Given the description of an element on the screen output the (x, y) to click on. 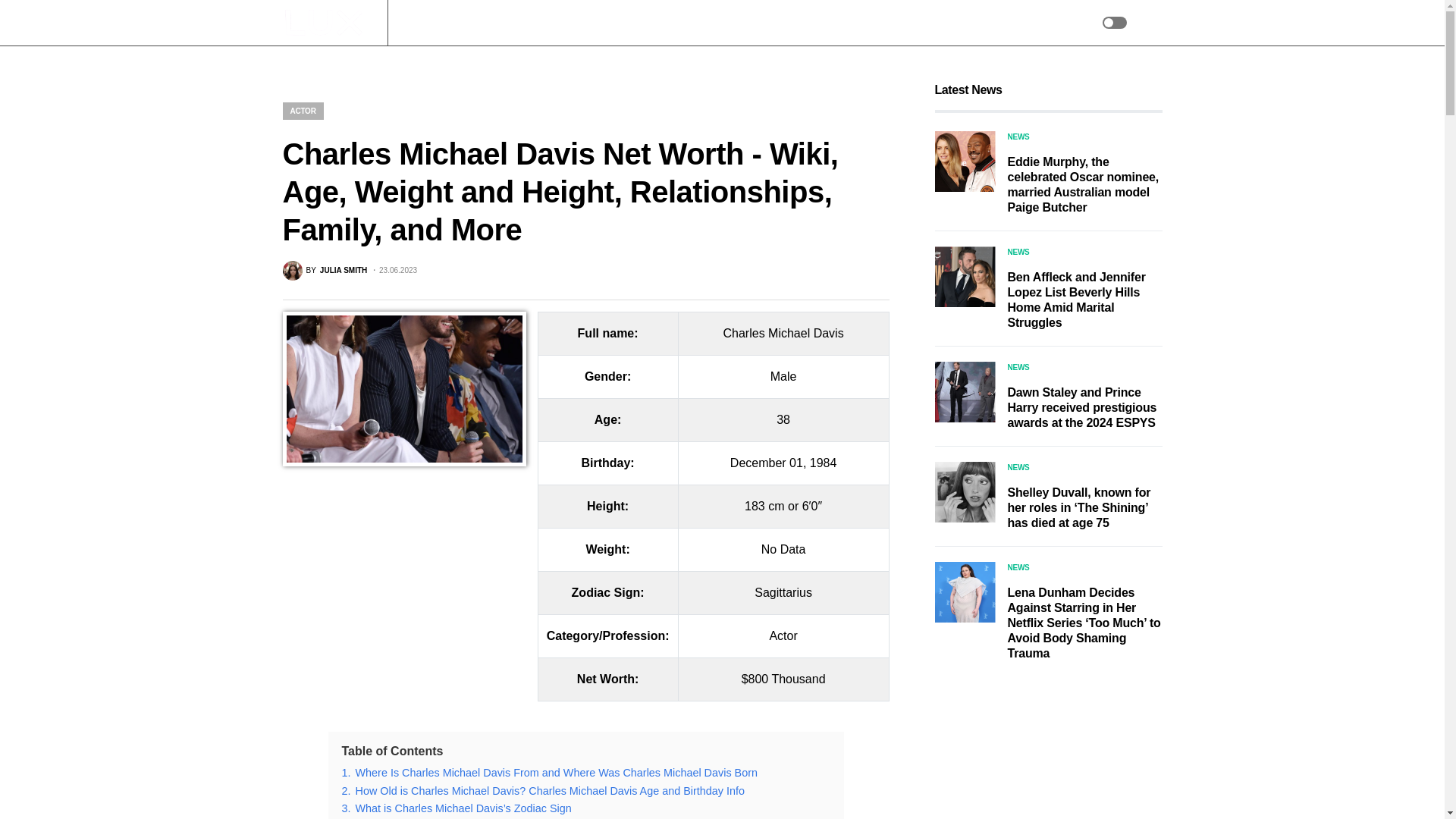
View all posts by Julia Smith (324, 270)
By Profession (629, 22)
About LuxLux (713, 22)
Zodiac Signs (546, 22)
Richest Celebrities (450, 22)
